Given the description of an element on the screen output the (x, y) to click on. 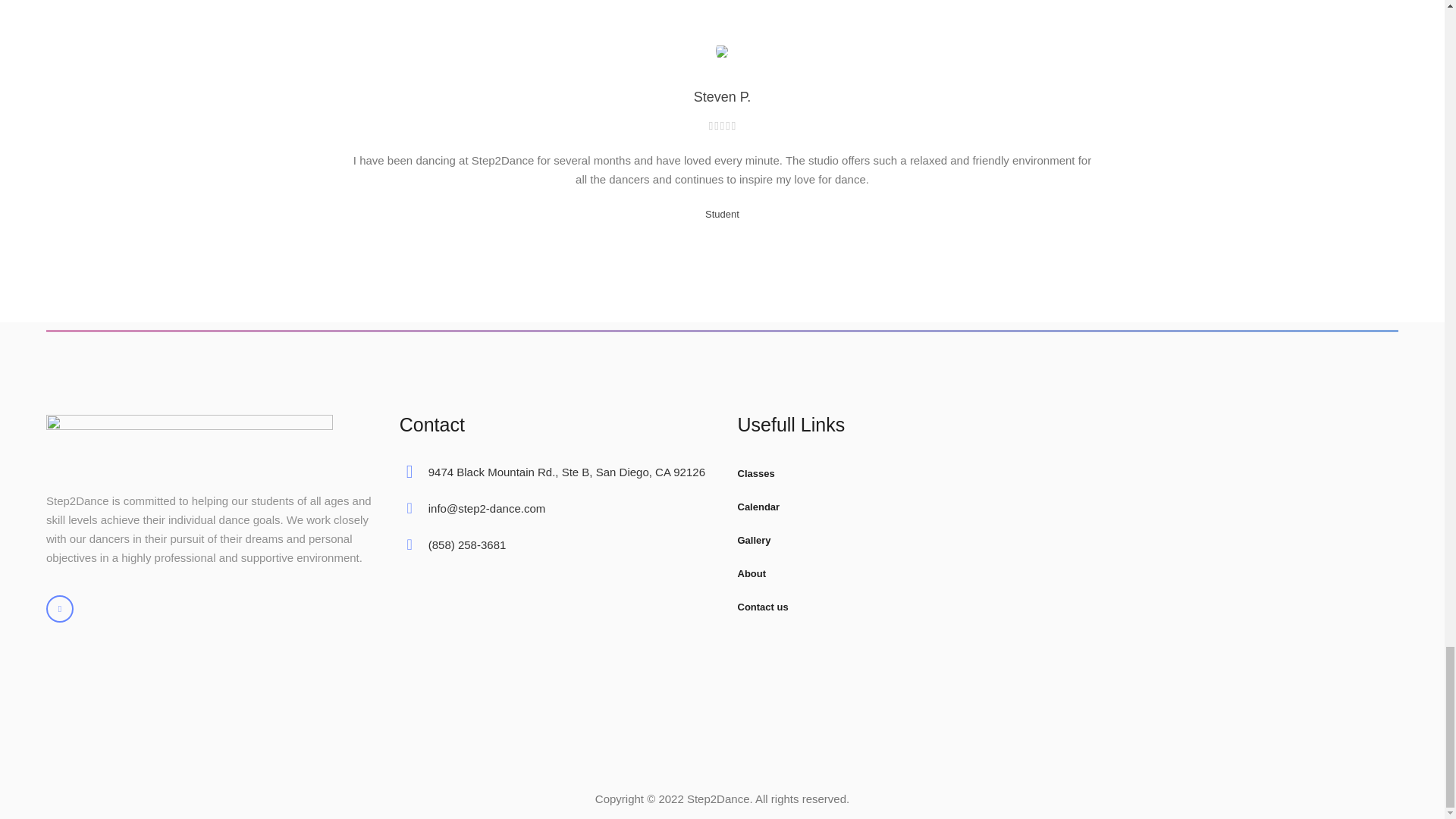
About (896, 573)
Classes (896, 473)
Gallery (896, 539)
Contact us (896, 607)
Calendar (896, 506)
